Given the description of an element on the screen output the (x, y) to click on. 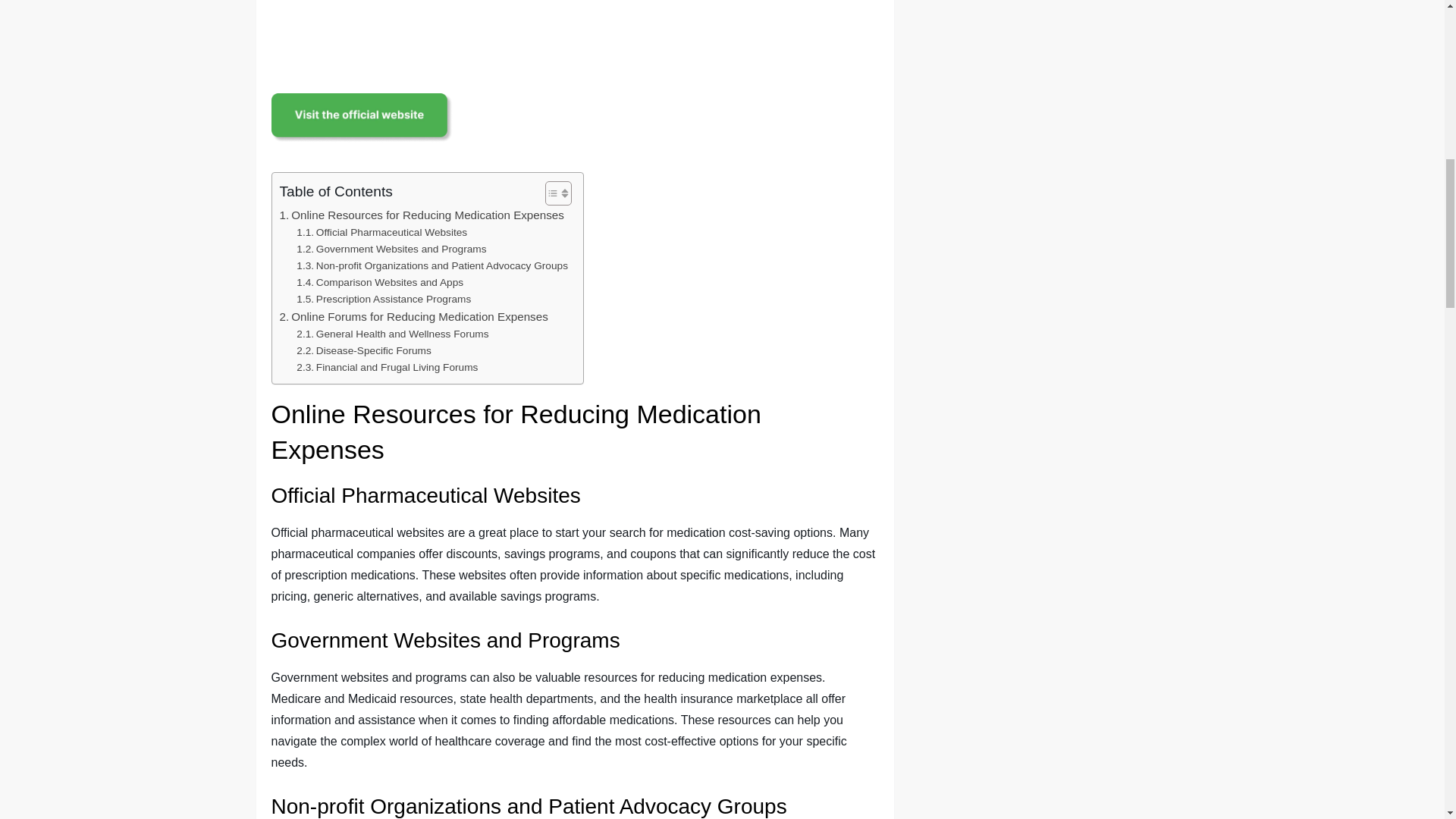
General Health and Wellness Forums (392, 334)
Online Resources for Reducing Medication Expenses (421, 215)
Comparison Websites and Apps (380, 282)
Non-profit Organizations and Patient Advocacy Groups (432, 265)
Non-profit Organizations and Patient Advocacy Groups (432, 265)
Comparison Websites and Apps (380, 282)
Prescription Assistance Programs (383, 299)
Official Pharmaceutical Websites (382, 232)
Disease-Specific Forums (363, 351)
Online Forums for Reducing Medication Expenses (413, 316)
Online Forums for Reducing Medication Expenses (413, 316)
Prescription Assistance Programs (383, 299)
Financial and Frugal Living Forums (387, 367)
General Health and Wellness Forums (392, 334)
